Given the description of an element on the screen output the (x, y) to click on. 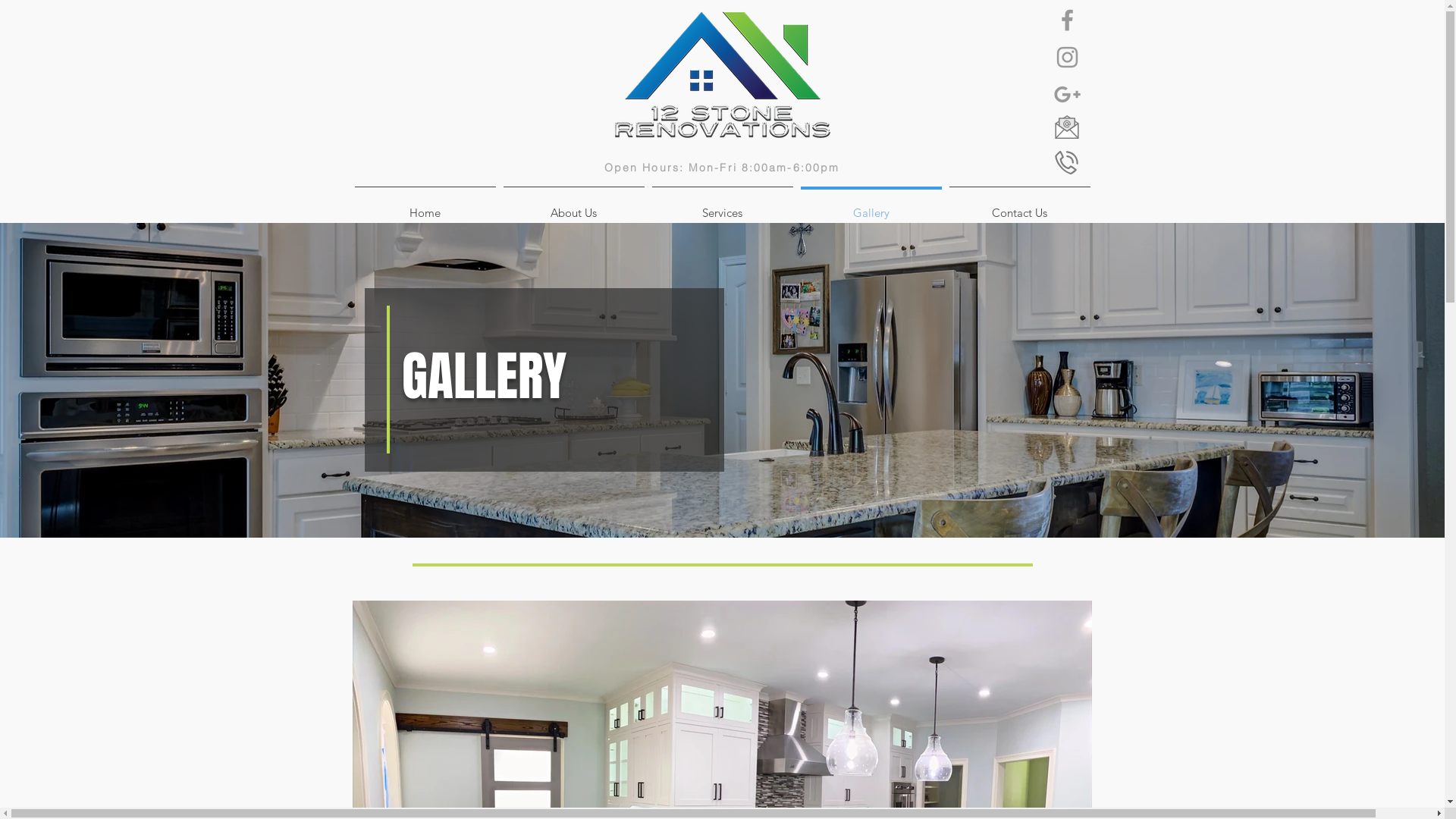
About Us Element type: text (572, 205)
Contact Us Element type: text (1018, 205)
Gallery Element type: text (870, 205)
Home Element type: text (424, 205)
Services Element type: text (721, 205)
